Given the description of an element on the screen output the (x, y) to click on. 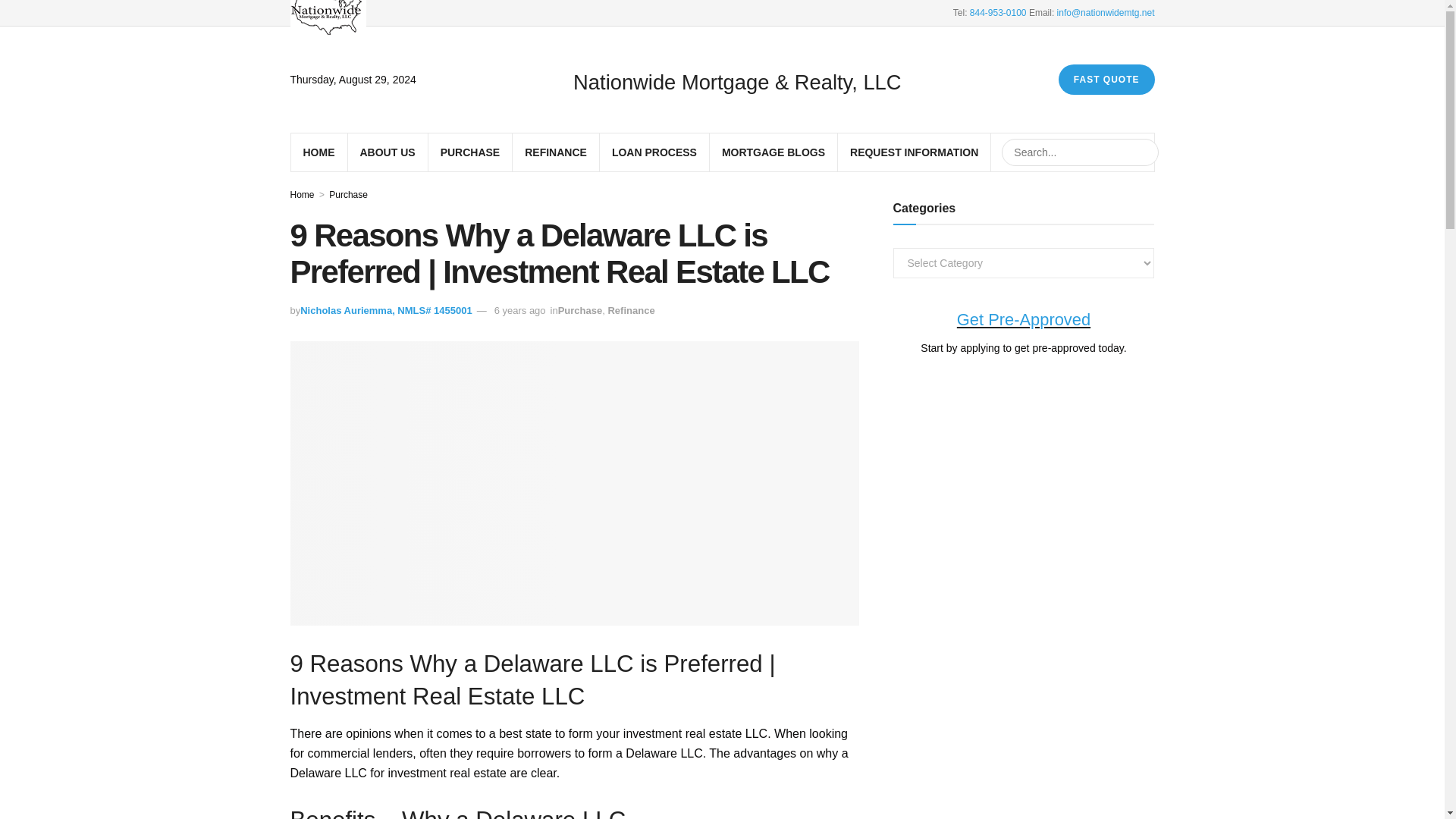
MORTGAGE BLOGS (773, 151)
ABOUT US (386, 151)
HOME (318, 151)
REQUEST INFORMATION (914, 151)
PURCHASE (470, 151)
FAST QUOTE (1106, 79)
LOAN PROCESS (654, 151)
844-953-0100 (997, 12)
REFINANCE (555, 151)
